Given the description of an element on the screen output the (x, y) to click on. 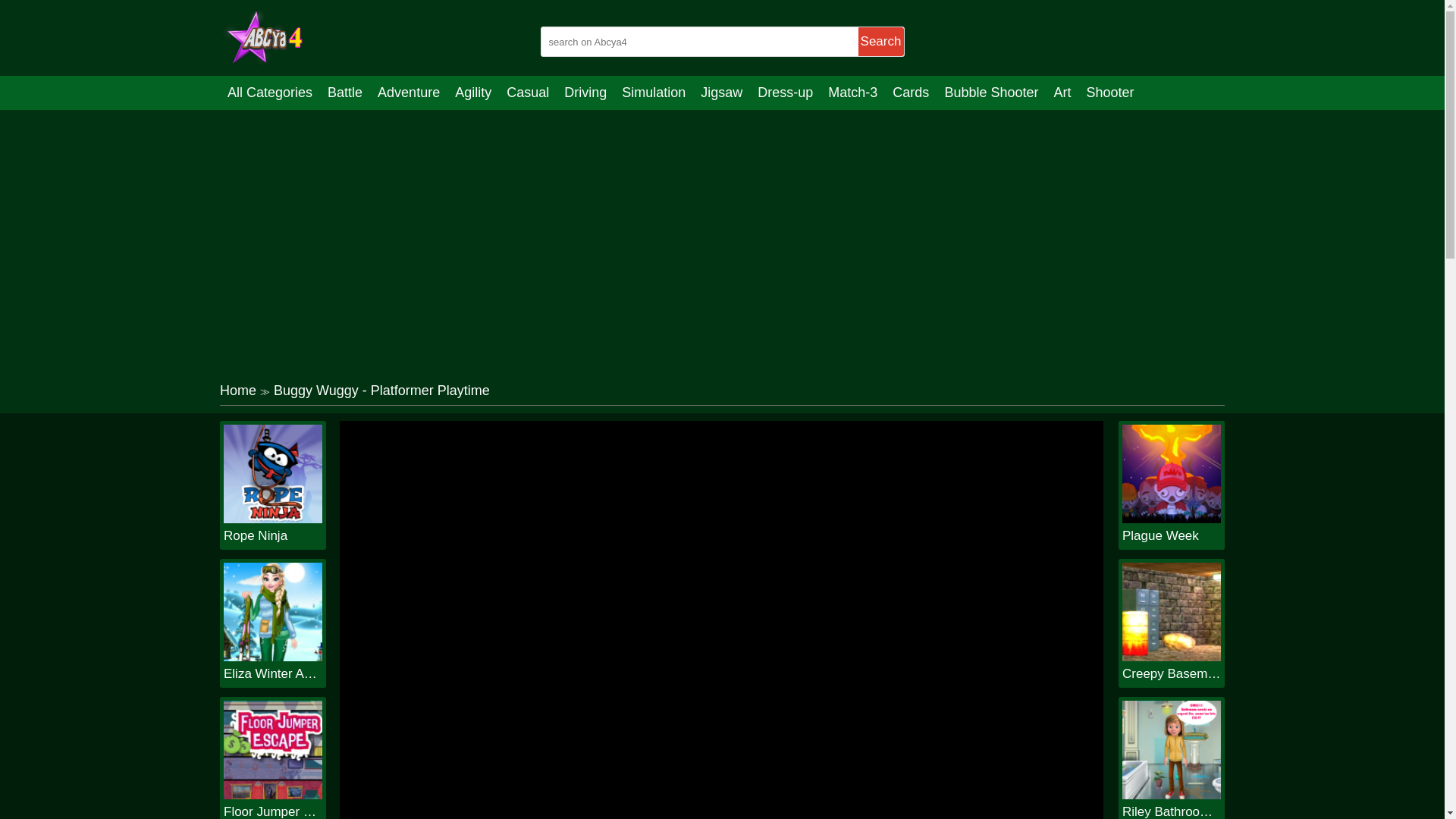
Agility (472, 92)
All category (269, 92)
Casual (527, 92)
Match-3 (853, 92)
Cards (910, 92)
Search (881, 41)
Battle (344, 92)
Casual (527, 92)
Dress-up (785, 92)
Simulation (653, 92)
Agility (472, 92)
Dress-up (785, 92)
Eliza Winter Adventure (272, 673)
Jigsaw (721, 92)
Driving (585, 92)
